Given the description of an element on the screen output the (x, y) to click on. 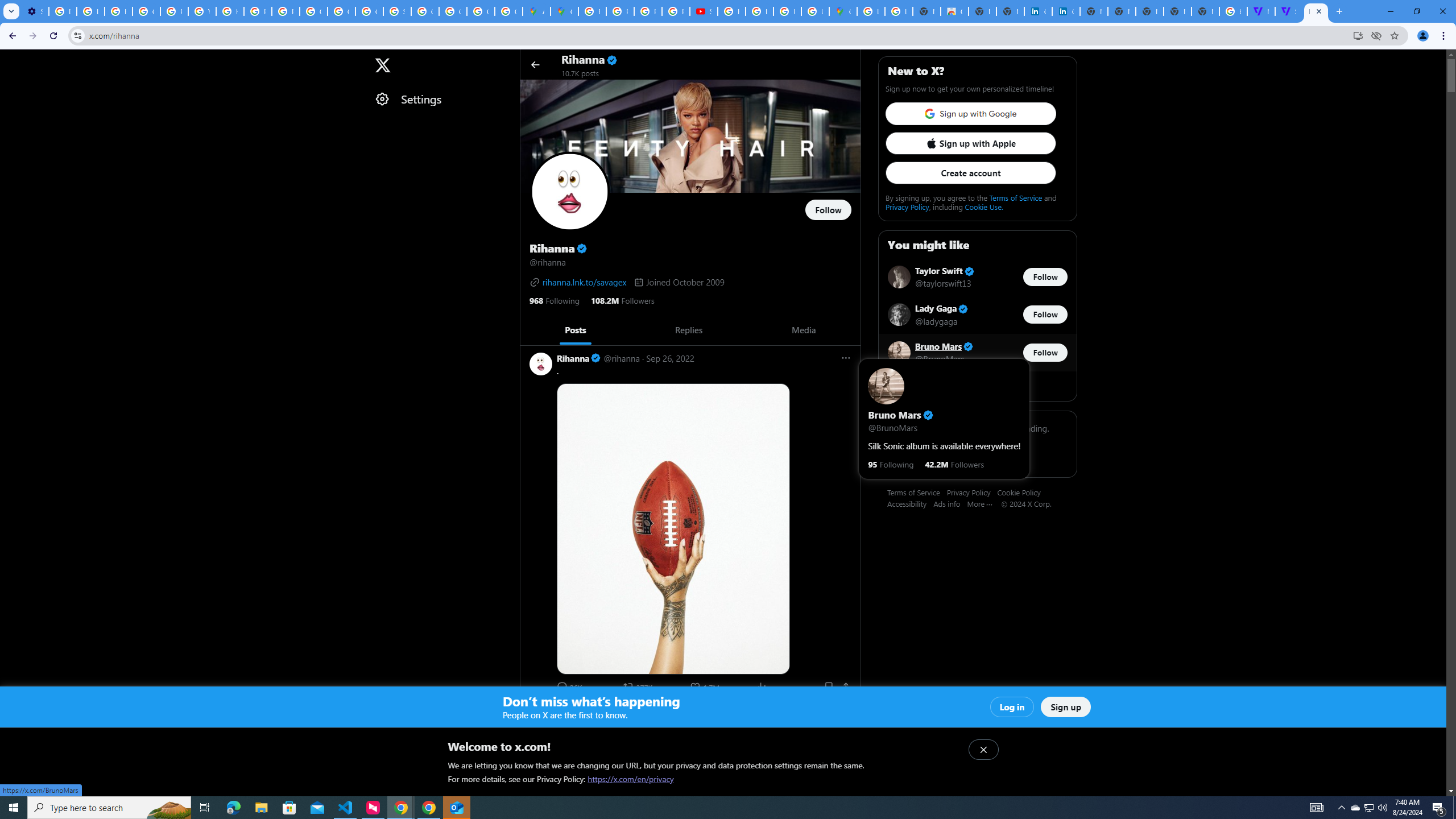
Install X (1358, 35)
Chrome Web Store (955, 11)
Opens profile photo (569, 191)
Privacy Help Center - Policies Help (620, 11)
Bookmark (828, 686)
Ads info (949, 503)
Share post (845, 686)
26148 Replies. Reply (570, 686)
Sign in - Google Accounts (397, 11)
Lady Gaga Verified account @ladygaga Follow @ladygaga (977, 314)
Rihanna (@rihanna) / X (1316, 11)
